Given the description of an element on the screen output the (x, y) to click on. 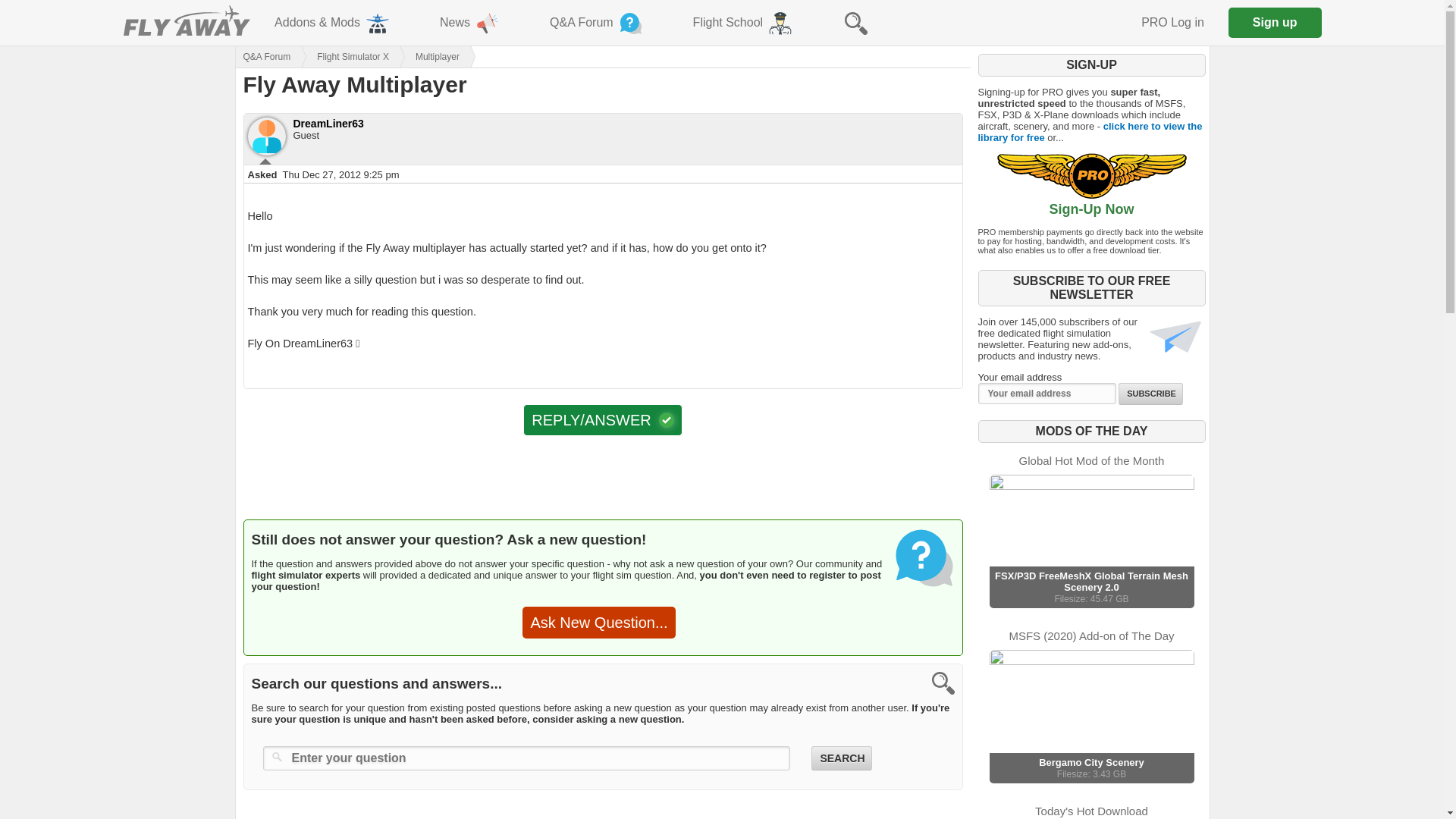
Login to your Fly Away Simulation account (1172, 22)
Ask New Question... (598, 622)
Flight Simulator X (338, 56)
Flight simulation and related news topics (469, 22)
Multiplayer (424, 56)
PRO Log in (1172, 22)
Search (840, 758)
News (469, 22)
Subscribe (1150, 393)
